Given the description of an element on the screen output the (x, y) to click on. 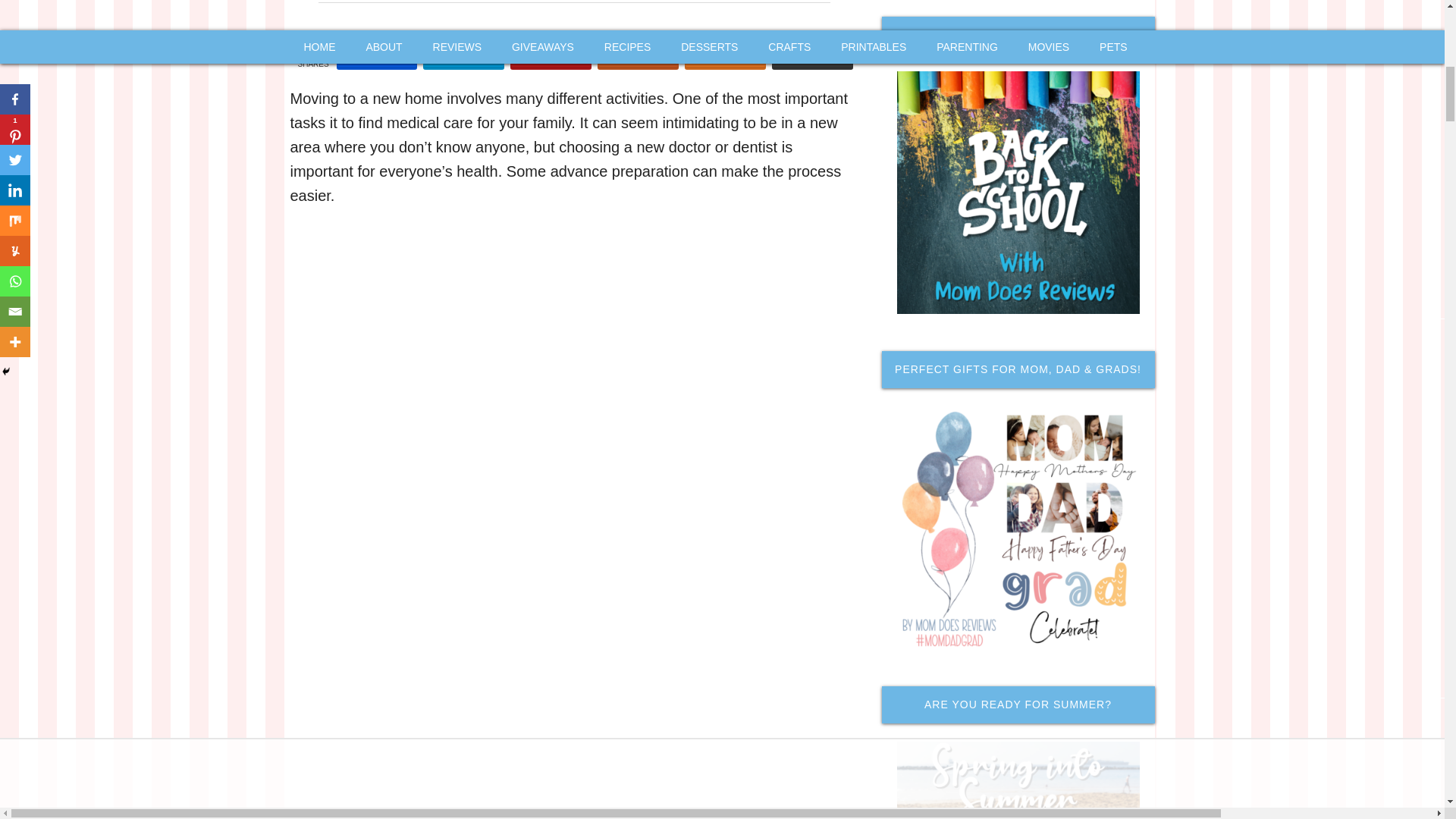
Share on Facebook (376, 56)
Facebook (376, 56)
